Given the description of an element on the screen output the (x, y) to click on. 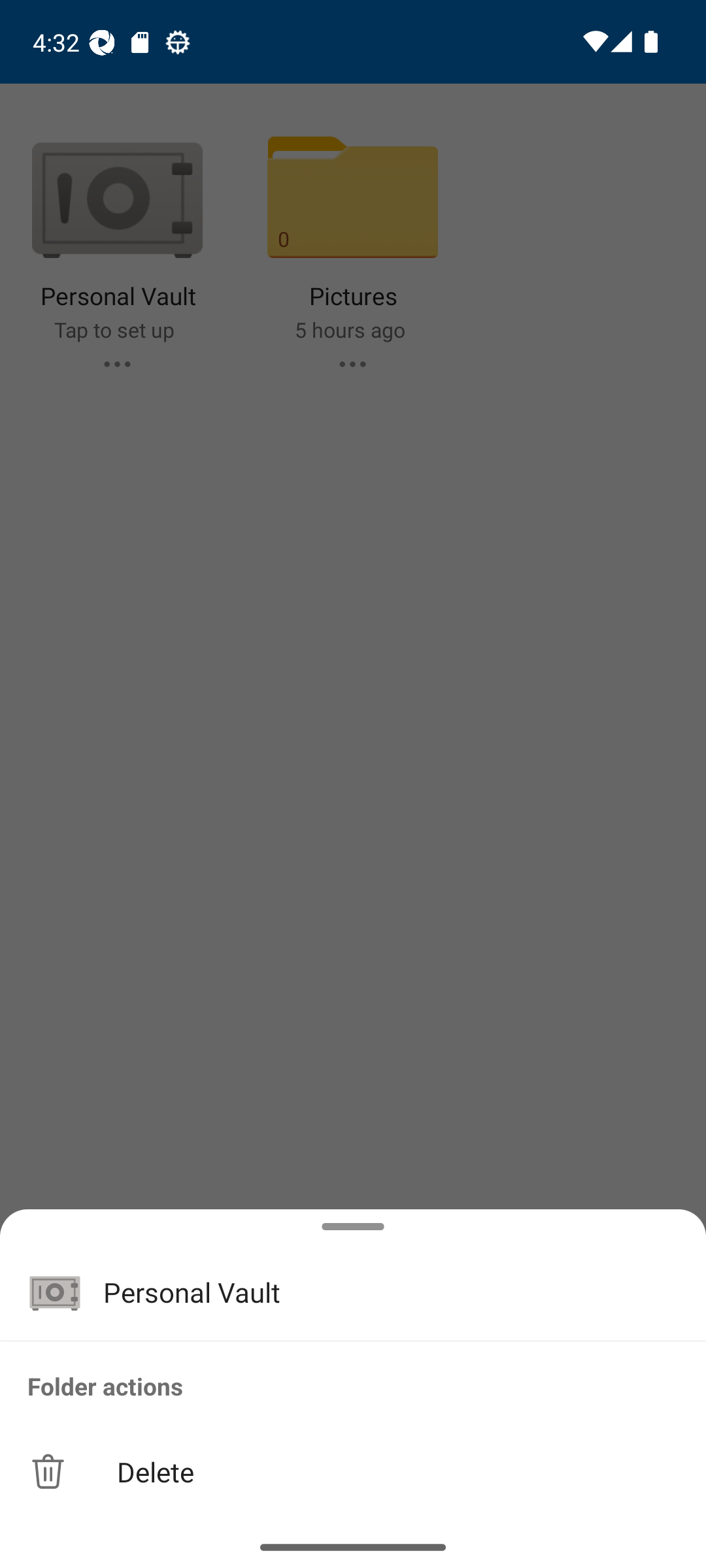
Delete button Delete (353, 1471)
